Given the description of an element on the screen output the (x, y) to click on. 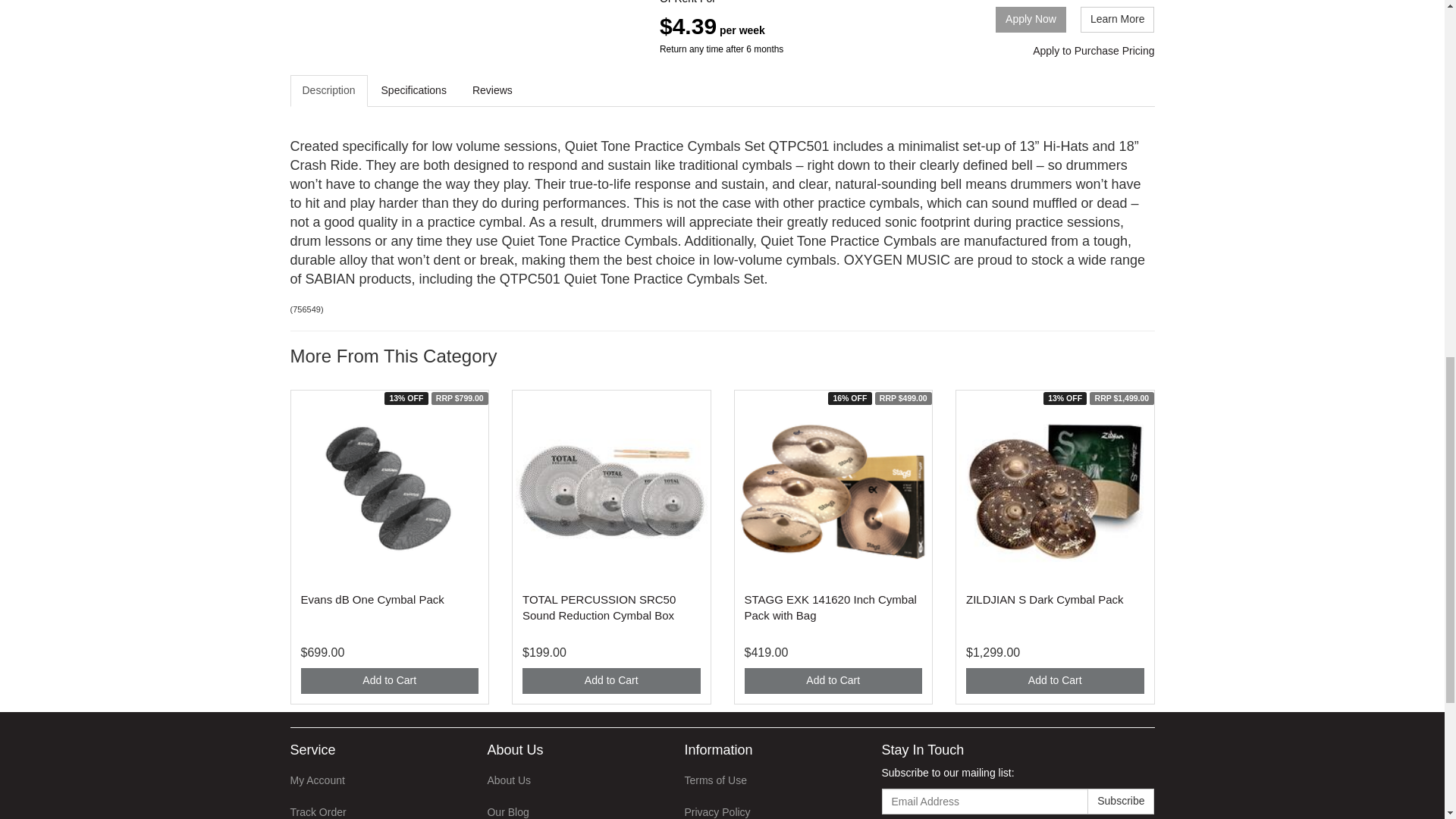
STAGG EXK 141620 Inch Cymbal Pack with Bag (830, 606)
Add to Cart (833, 680)
ZILDJIAN S Dark Cymbal Pack (1045, 599)
Add to Cart (1055, 680)
Add to Cart (389, 680)
TOTAL PERCUSSION SRC50 Sound Reduction Cymbal Box Set (598, 606)
Evans dB One Cymbal Pack (371, 599)
Subscribe (1120, 801)
Add to Cart (611, 680)
